Given the description of an element on the screen output the (x, y) to click on. 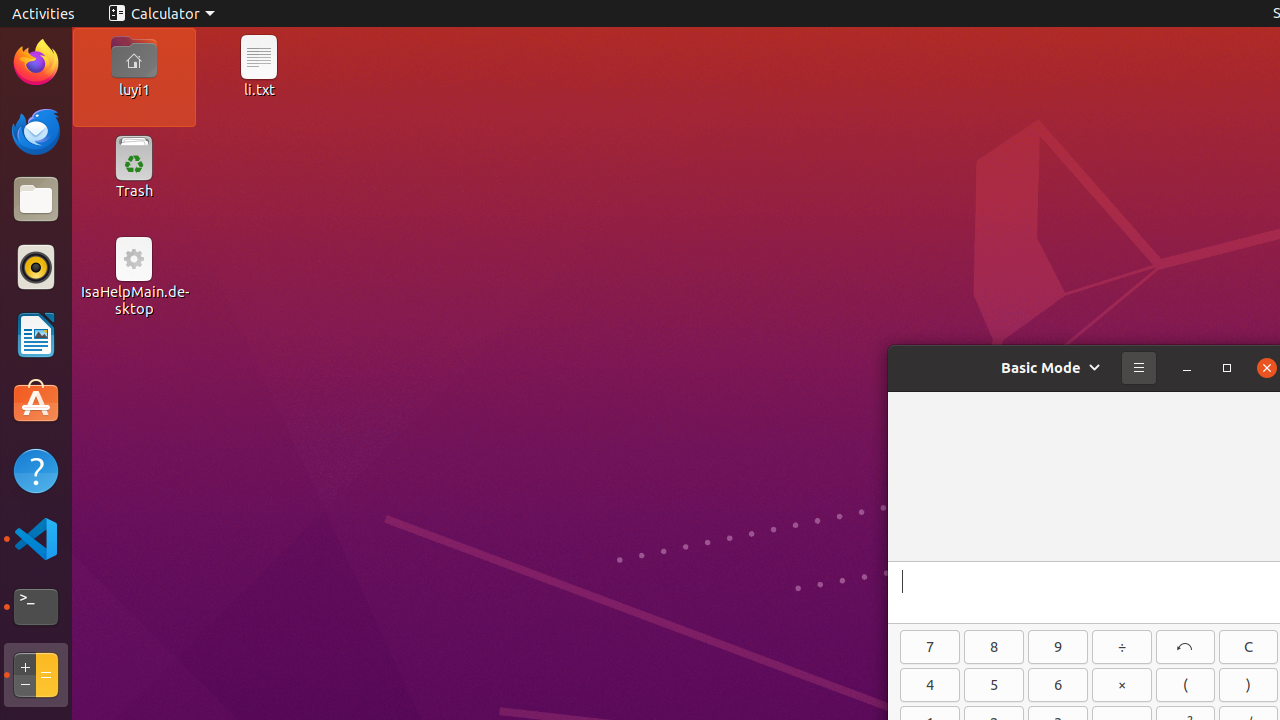
Primary menu Element type: toggle-button (1139, 367)
C Element type: push-button (1248, 647)
